Given the description of an element on the screen output the (x, y) to click on. 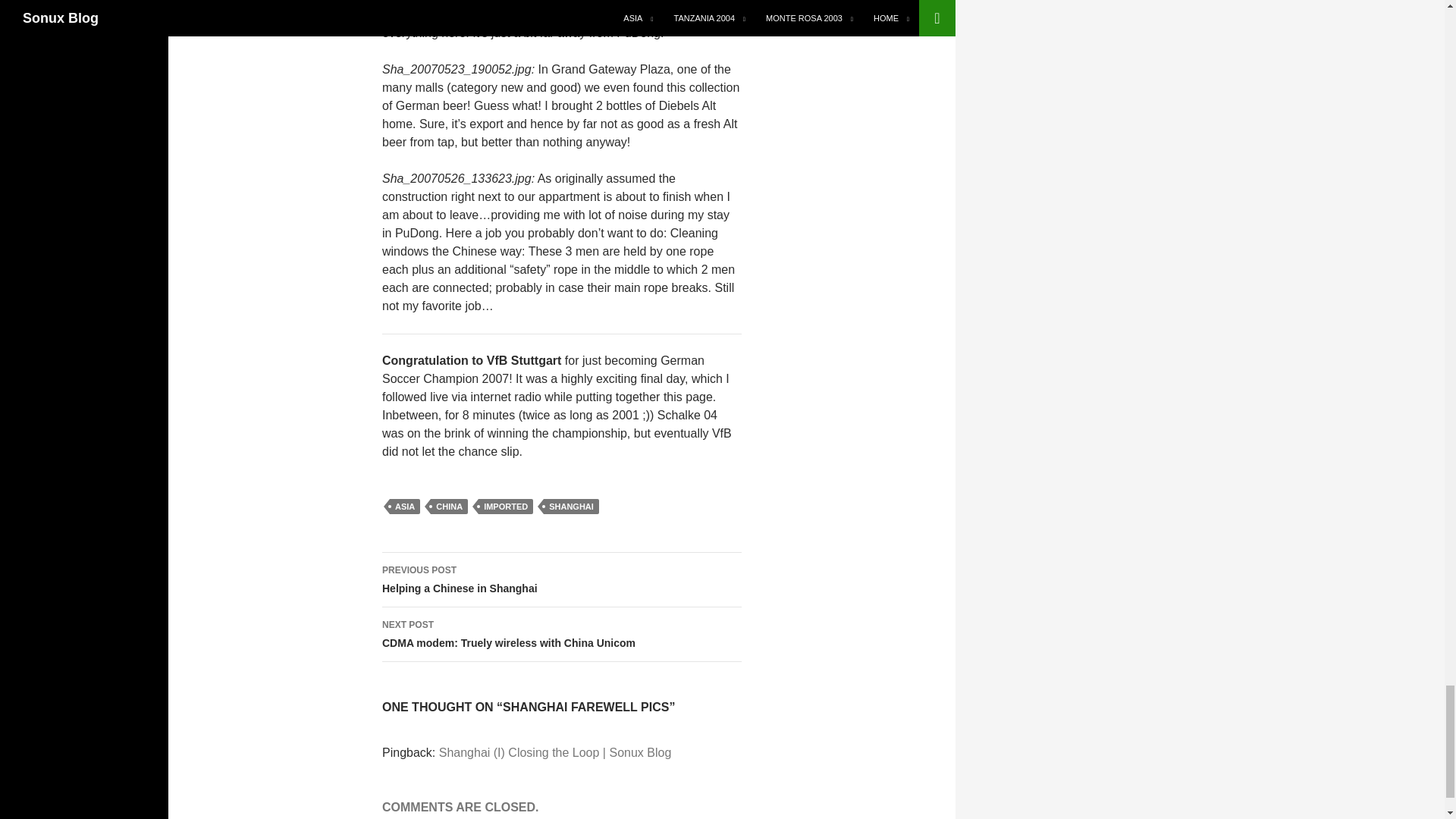
CHINA (448, 506)
ASIA (405, 506)
